Given the description of an element on the screen output the (x, y) to click on. 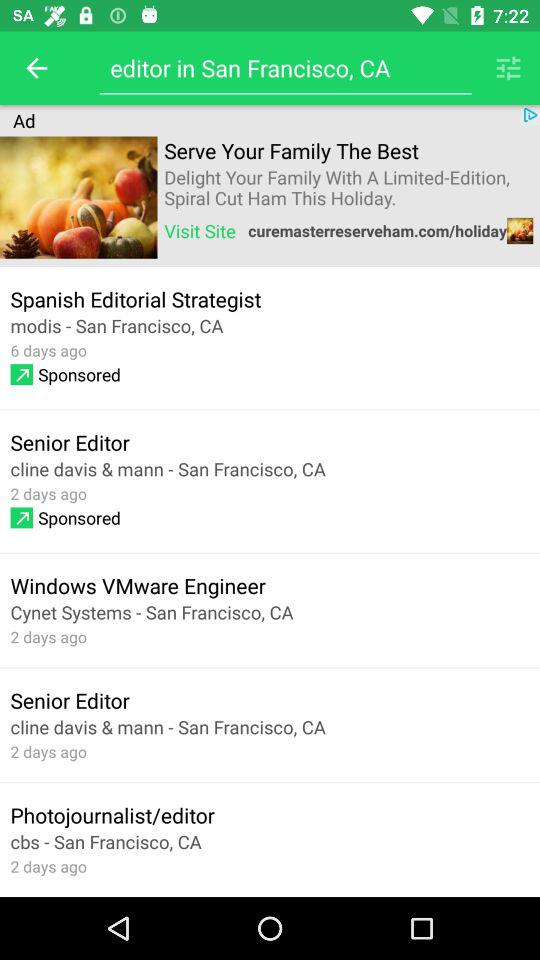
press icon below delight your family item (199, 230)
